Given the description of an element on the screen output the (x, y) to click on. 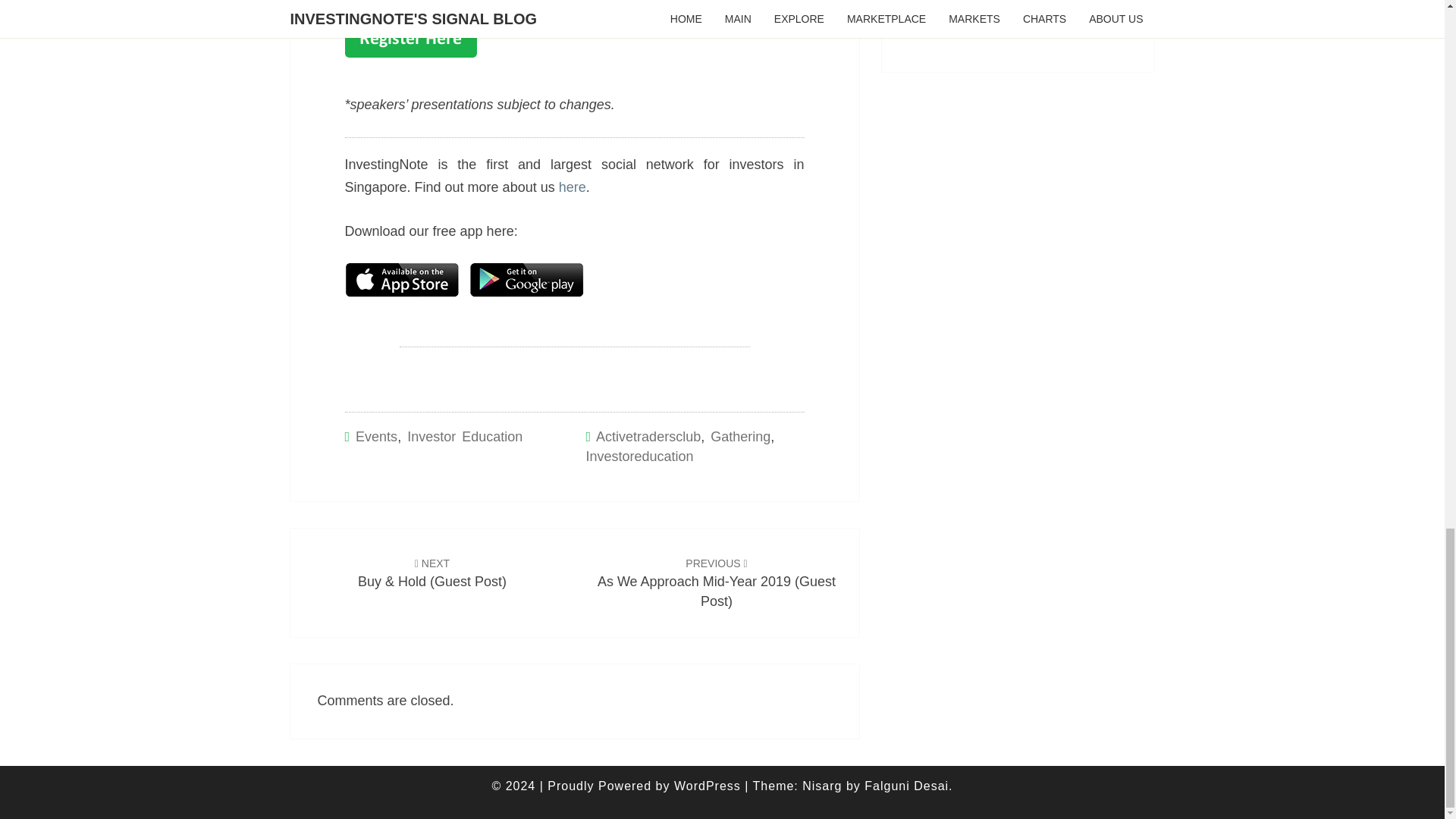
Events (376, 436)
here (572, 186)
Investor Education (464, 436)
Gathering (740, 436)
Investoreducation (639, 456)
Activetradersclub (647, 436)
